Given the description of an element on the screen output the (x, y) to click on. 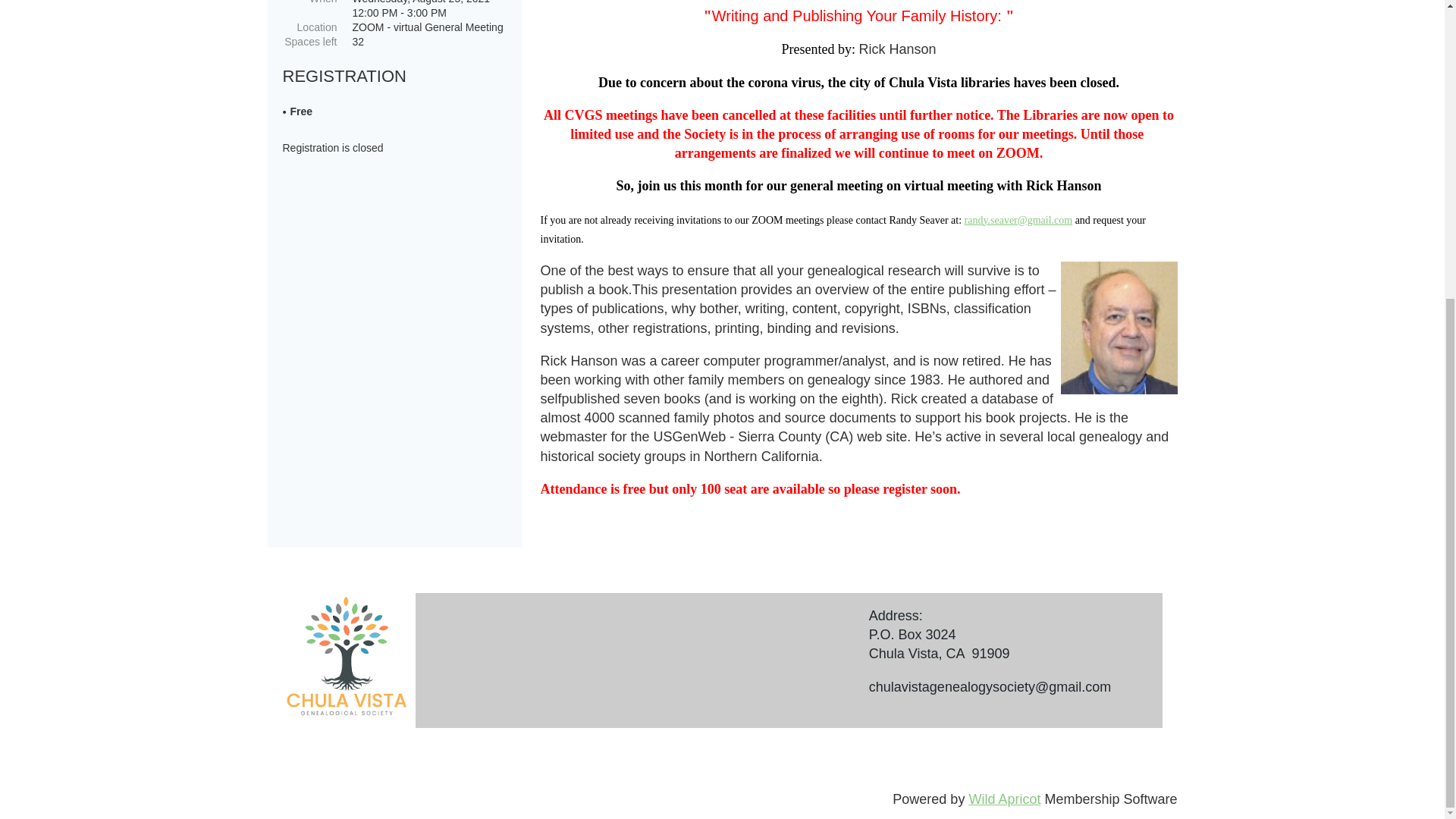
Wild Apricot (1004, 798)
